Given the description of an element on the screen output the (x, y) to click on. 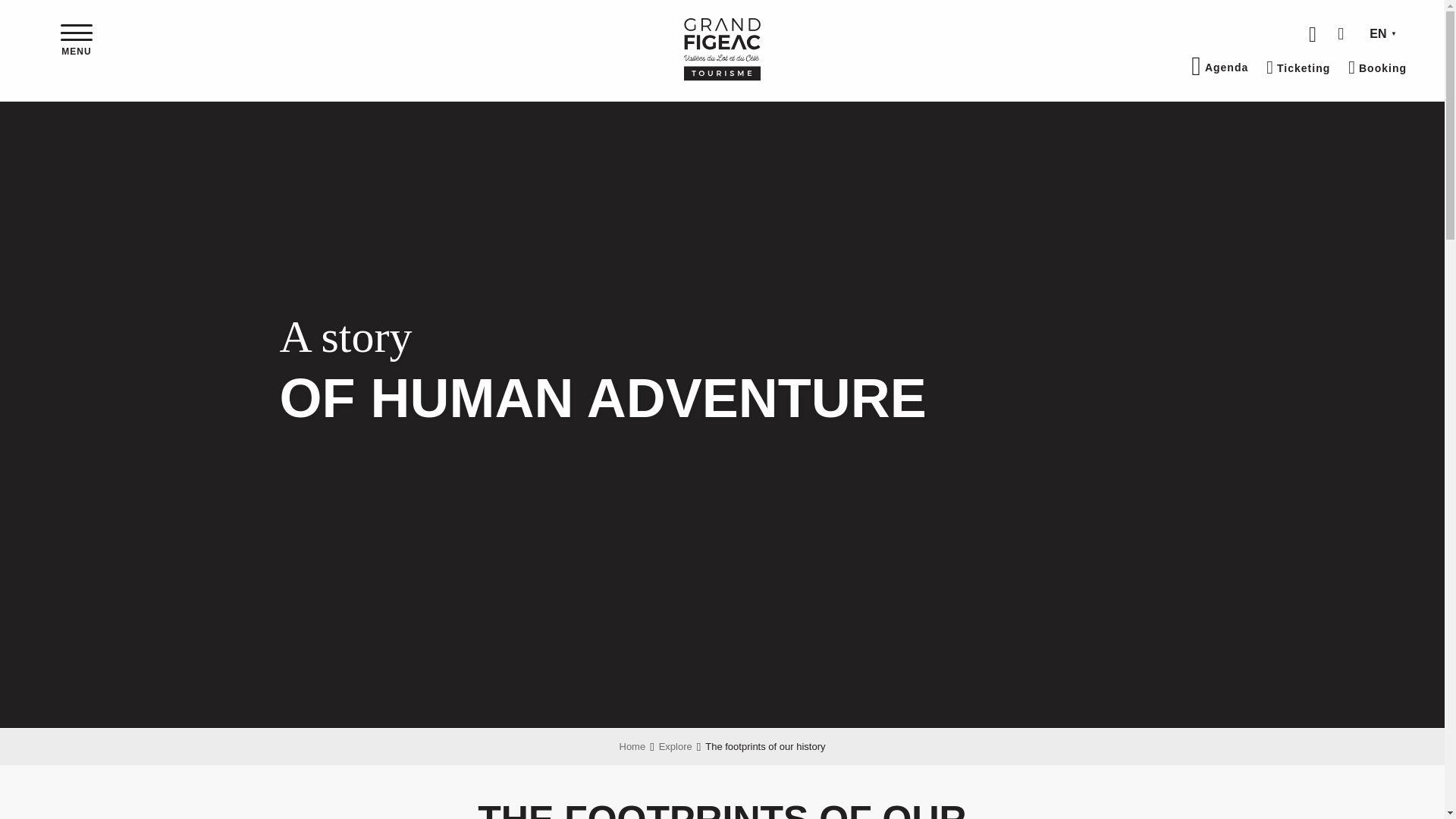
Booking (1377, 67)
Home (631, 746)
Go to main menu (75, 50)
Ticketing (1298, 67)
Explore (676, 746)
Agenda (1219, 67)
